Given the description of an element on the screen output the (x, y) to click on. 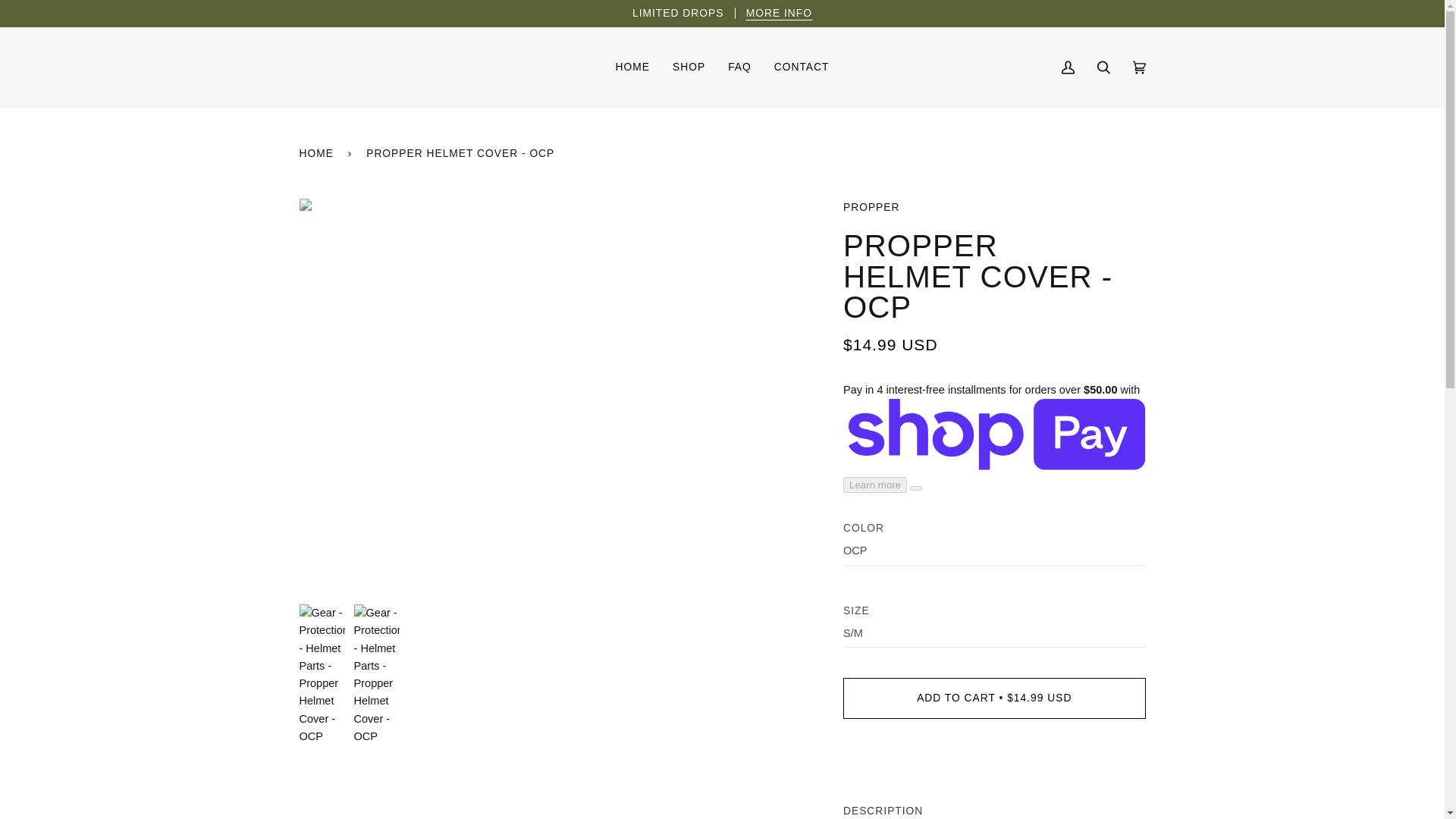
CONTACT (801, 67)
MORE INFO (778, 12)
Limited (778, 12)
Back to the frontpage (317, 153)
